Given the description of an element on the screen output the (x, y) to click on. 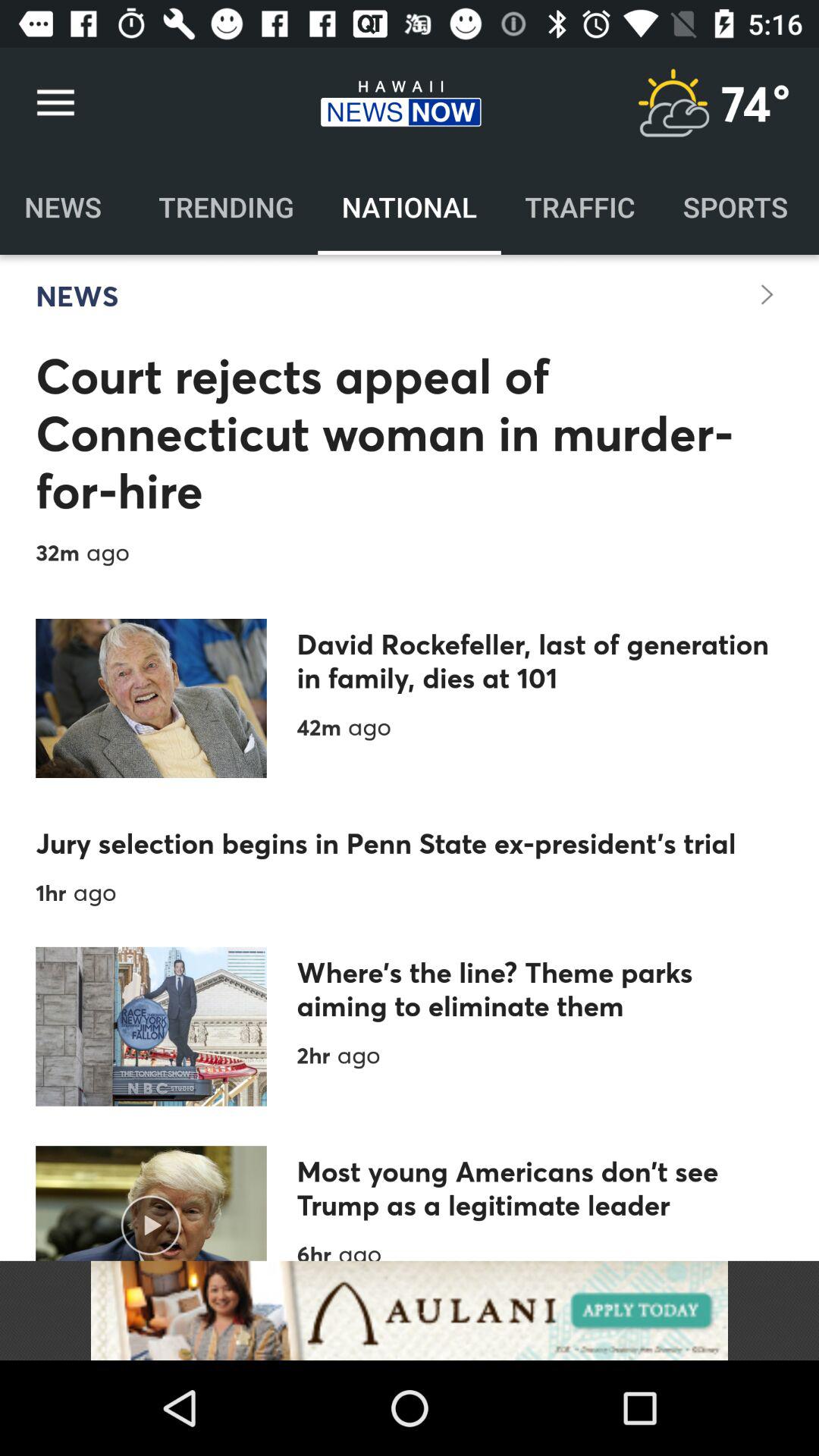
aulani advertisement (409, 1310)
